Given the description of an element on the screen output the (x, y) to click on. 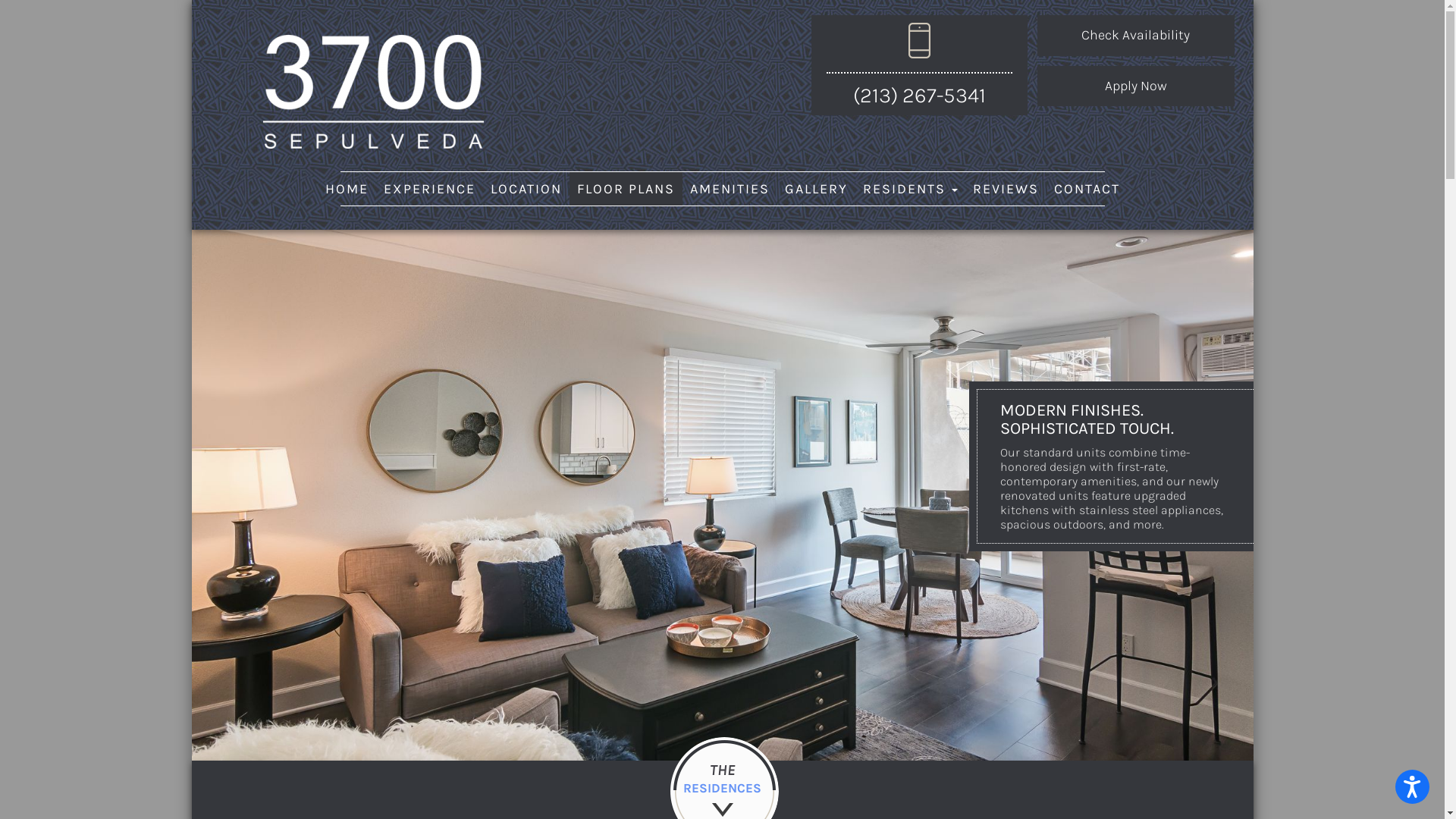
Check Availability Element type: text (1135, 35)
(213) 267-5341 Element type: text (919, 94)
EXPERIENCE Element type: text (429, 188)
REVIEWS Element type: text (1004, 188)
HOME Element type: text (345, 188)
LOCATION Element type: text (525, 188)
RESIDENTS Element type: text (910, 188)
GALLERY Element type: text (815, 188)
FLOOR PLANS Element type: text (624, 188)
Apply Now Element type: text (1135, 85)
AMENITIES Element type: text (729, 188)
CONTACT Element type: text (1086, 188)
